Given the description of an element on the screen output the (x, y) to click on. 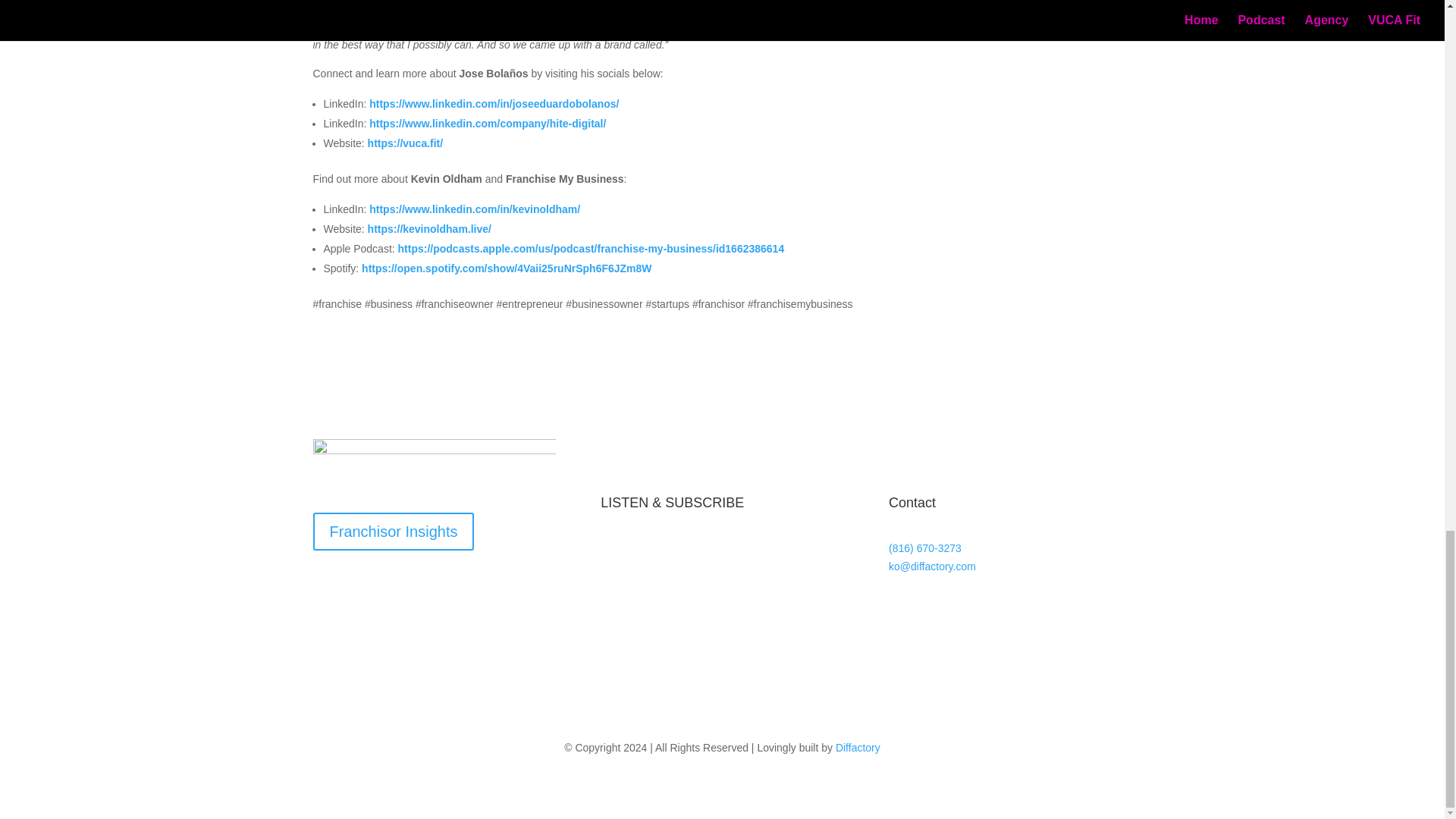
Google Podcast (670, 679)
Follow on Instagram (991, 610)
Franchisor Insights (393, 531)
Apple Podcast (665, 619)
Follow on Youtube (930, 610)
Follow on Facebook (900, 610)
Follow on TikTok (961, 610)
franchise blue (433, 463)
Diffactory (857, 747)
Follow on LinkedIn (1021, 610)
